Given the description of an element on the screen output the (x, y) to click on. 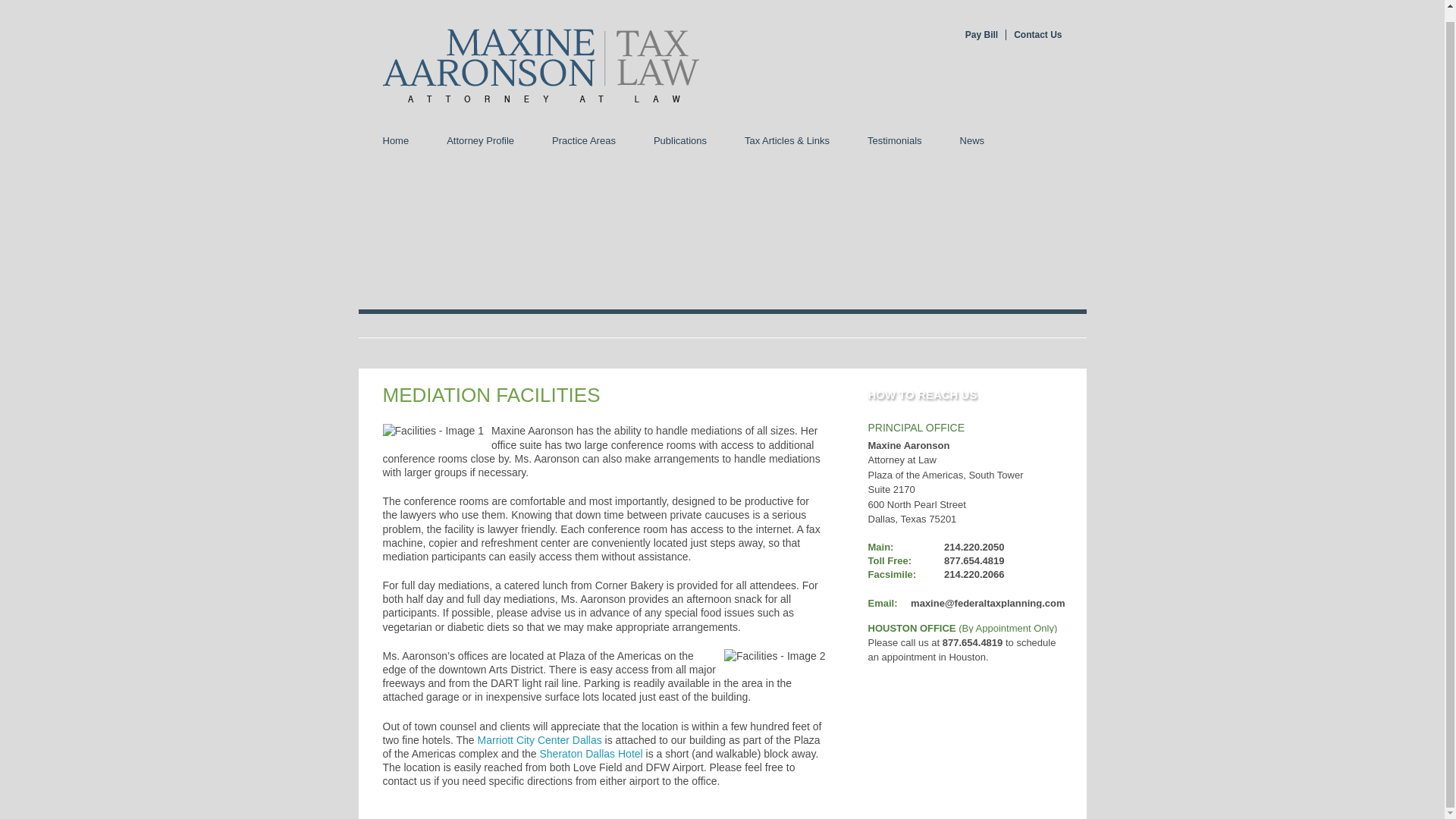
Pay Bill (982, 34)
Attorney Profile (480, 140)
News (972, 140)
Large (1045, 139)
Sheraton Dallas Hotel (591, 753)
Large (1045, 139)
Contact Us (1033, 34)
Home (396, 140)
Largest (1059, 139)
Practice Areas (583, 140)
Regular (1031, 139)
Largest (1059, 139)
Testimonials (894, 140)
Marriott City Center Dallas (539, 739)
Regular (1031, 139)
